Given the description of an element on the screen output the (x, y) to click on. 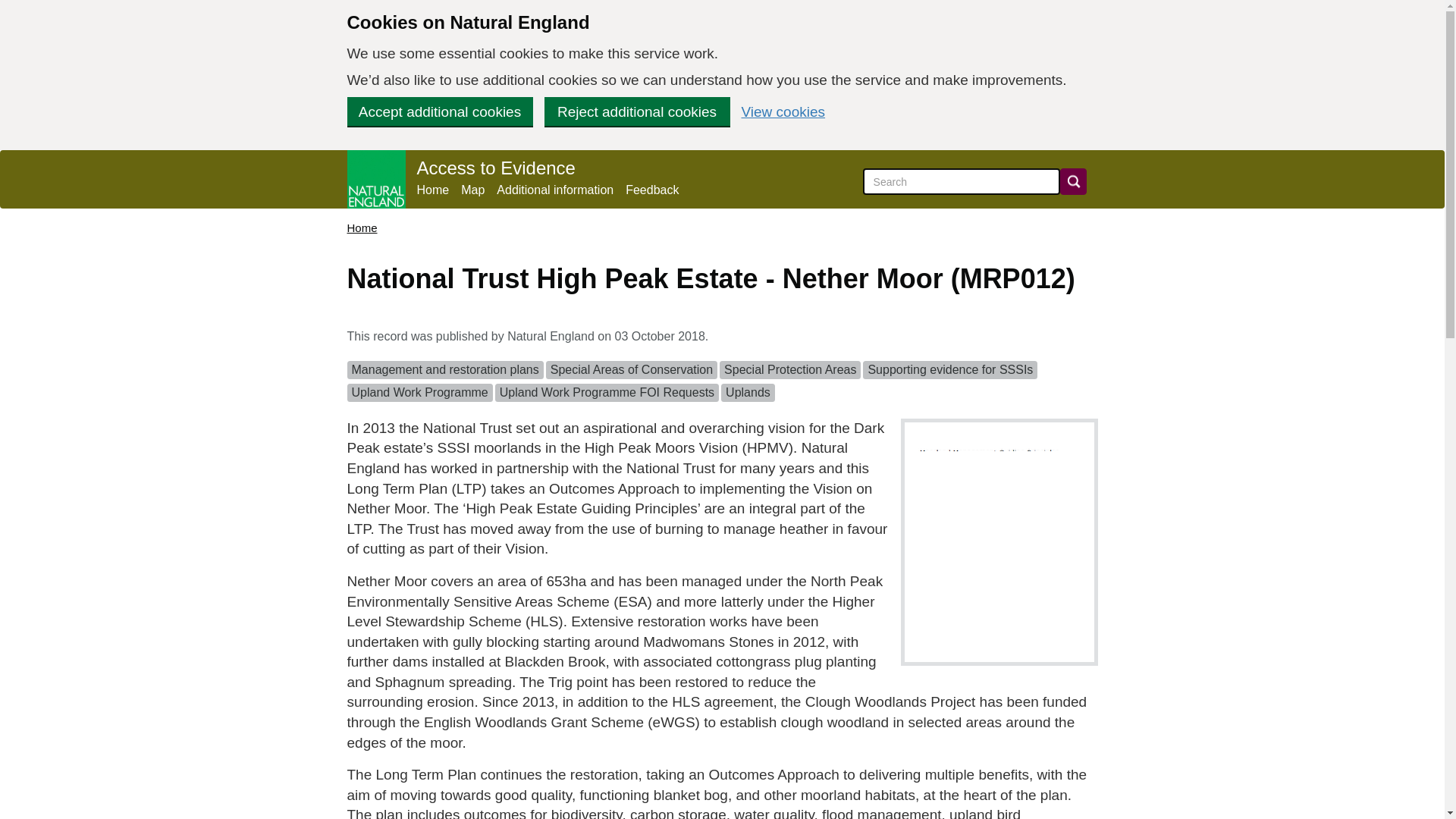
Uplands (747, 391)
Home (432, 190)
View cookies (783, 111)
Home (362, 227)
Upland Work Programme (420, 391)
Site-wide search (961, 181)
Go to the Natural England homepage. (376, 178)
Special Protection Areas (789, 369)
Upland Work Programme FOI Requests (607, 391)
Management and restoration plans (445, 369)
Accept additional cookies (439, 111)
Supporting evidence for SSSIs (949, 369)
Additional information (554, 190)
Feedback (652, 190)
Record categories (722, 383)
